Given the description of an element on the screen output the (x, y) to click on. 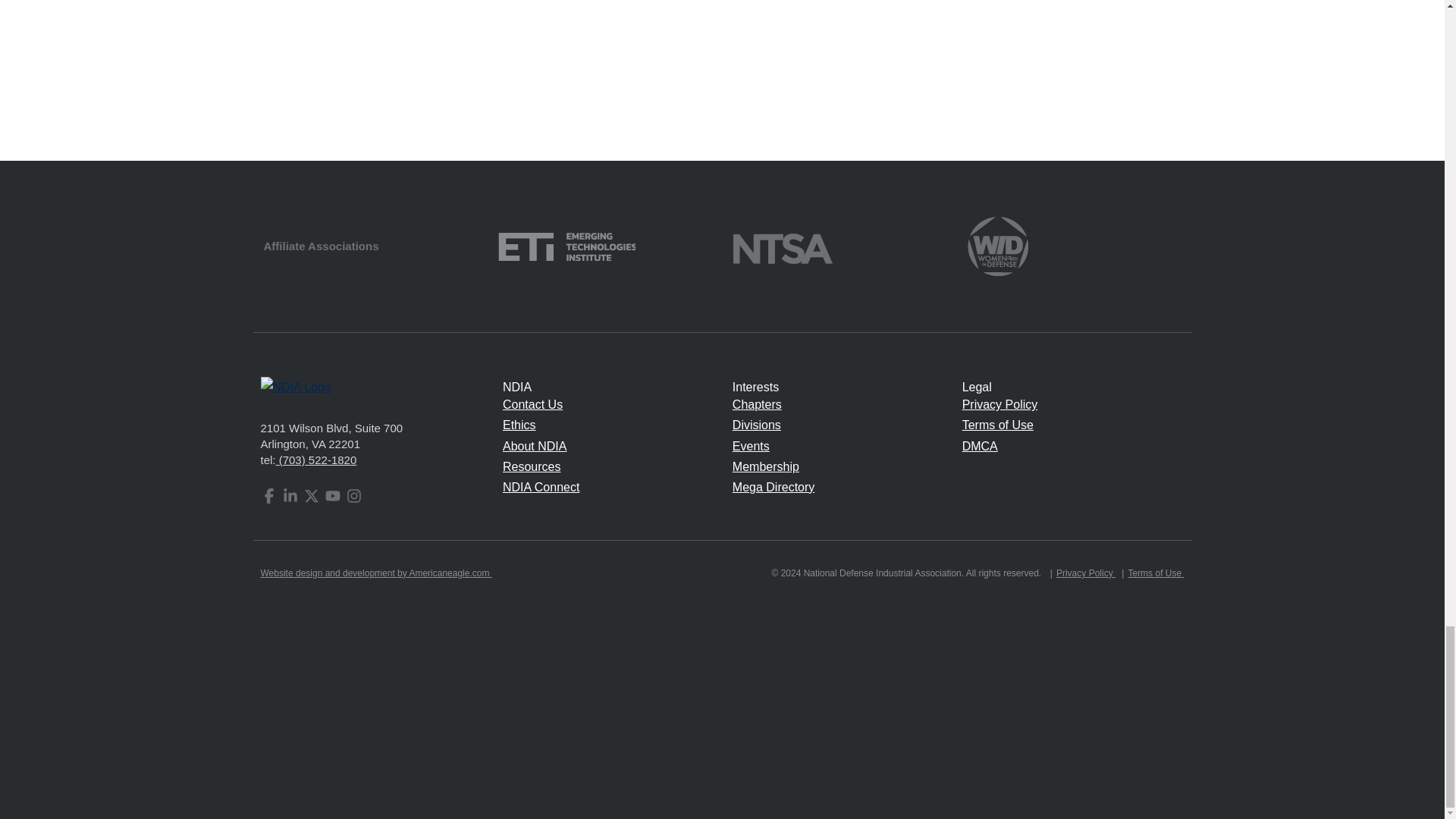
X (310, 495)
Instagram (353, 495)
Emerging Technologies Institute (565, 245)
Emerging Technologies Institute (565, 245)
3rd party ad content (722, 69)
YouTube (331, 495)
WID (997, 245)
LinkedIn (289, 495)
Facebook (268, 495)
About NDIA (534, 445)
